Given the description of an element on the screen output the (x, y) to click on. 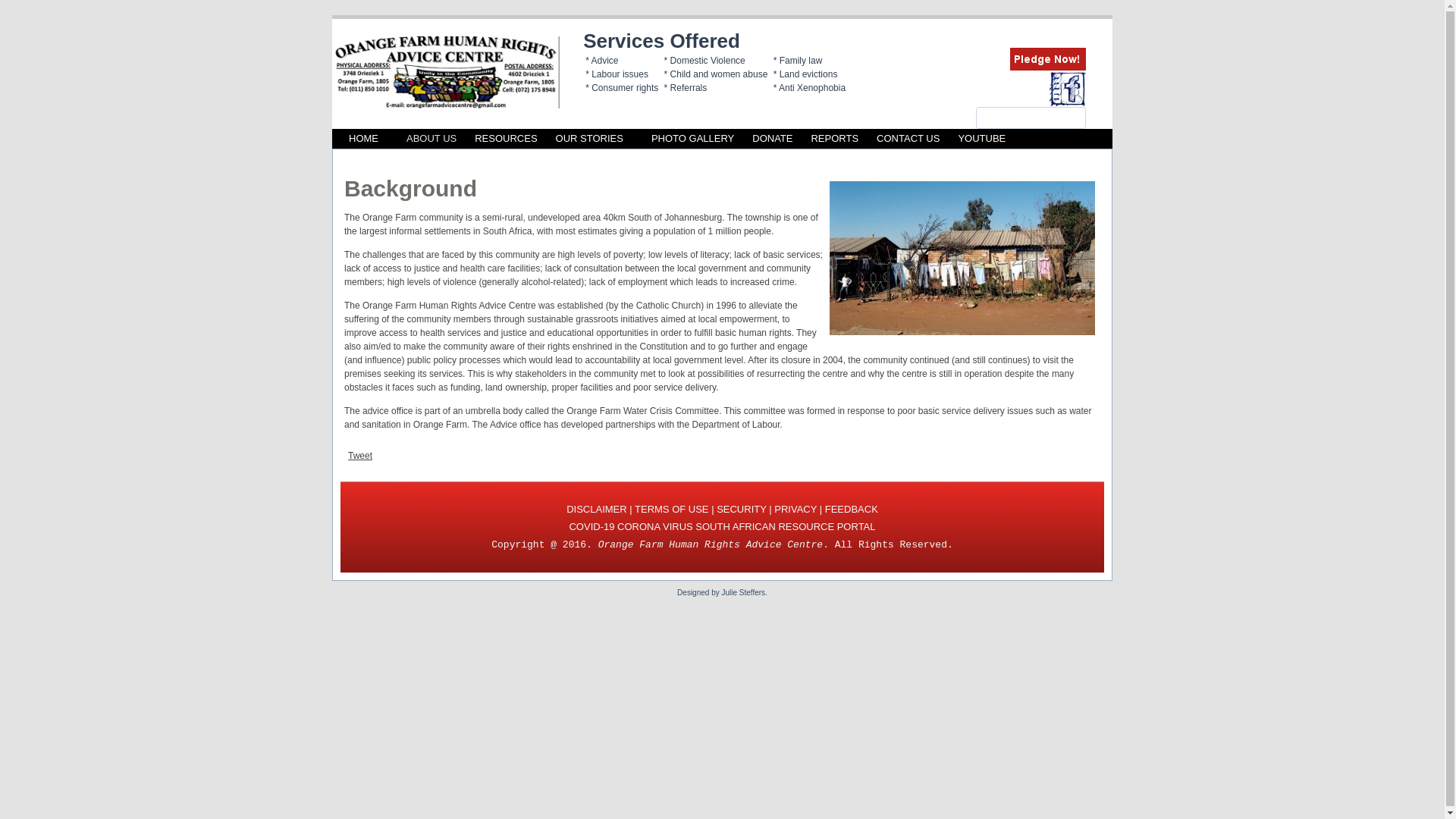
ABOUT US (426, 138)
DONATE (772, 138)
PHOTO GALLERY (686, 138)
REPORTS (834, 138)
HOME (363, 138)
OUR STORIES (589, 138)
RESOURCES (505, 138)
